Given the description of an element on the screen output the (x, y) to click on. 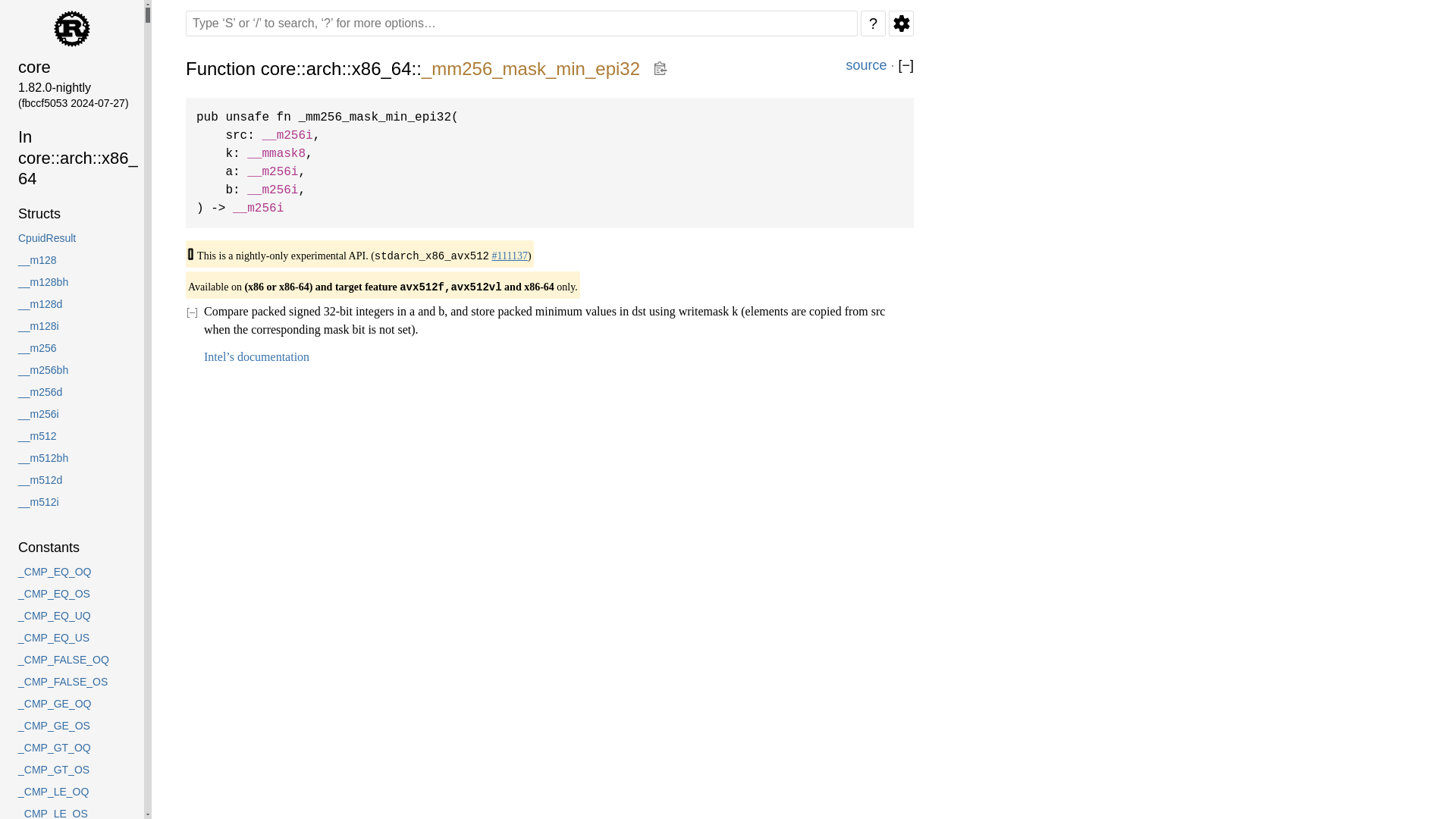
help (872, 23)
core (70, 67)
collapse all docs (906, 65)
Structs (70, 213)
Constants (70, 547)
settings (901, 23)
Copy item path to clipboard (659, 68)
CpuidResult (70, 238)
